Given the description of an element on the screen output the (x, y) to click on. 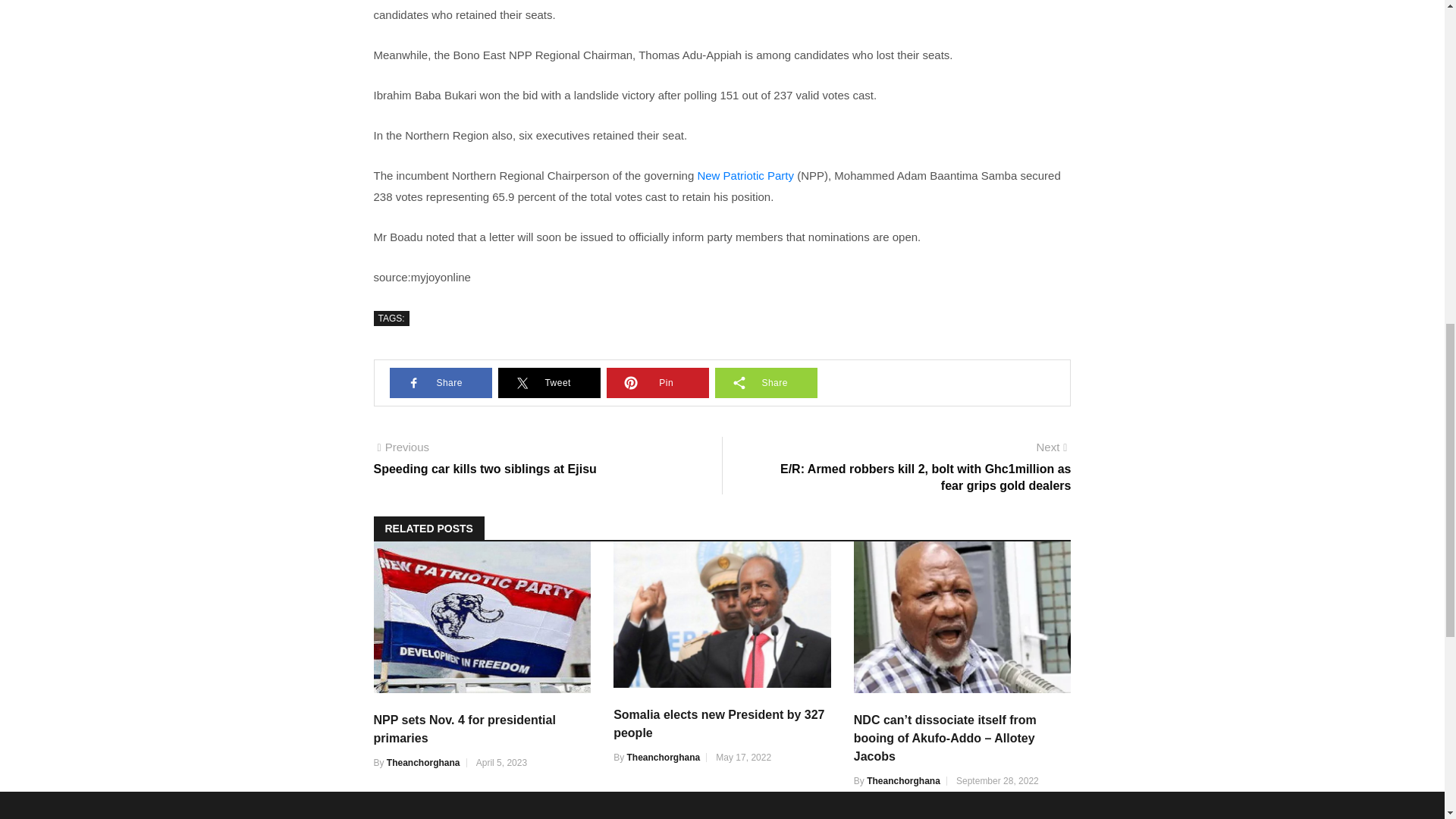
New Patriotic Party (745, 174)
Posts by theanchorghana (663, 757)
Somalia elects new President by 327 people (718, 723)
Theanchorghana (903, 780)
NPP sets Nov. 4 for presidential primaries (463, 728)
Theanchorghana (423, 762)
Theanchorghana (663, 757)
Posts by theanchorghana (903, 780)
Posts by theanchorghana (423, 762)
